Given the description of an element on the screen output the (x, y) to click on. 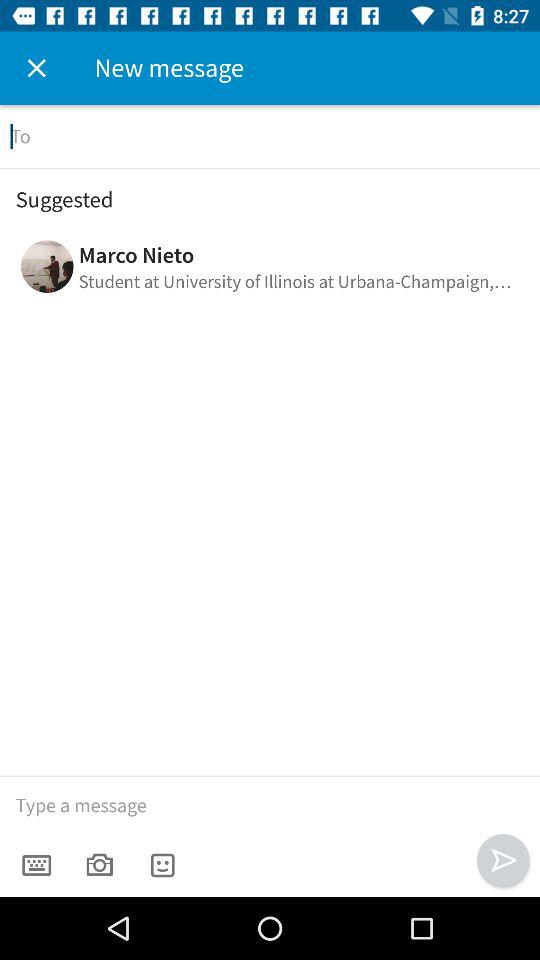
choose item to the left of the new message icon (36, 68)
